Given the description of an element on the screen output the (x, y) to click on. 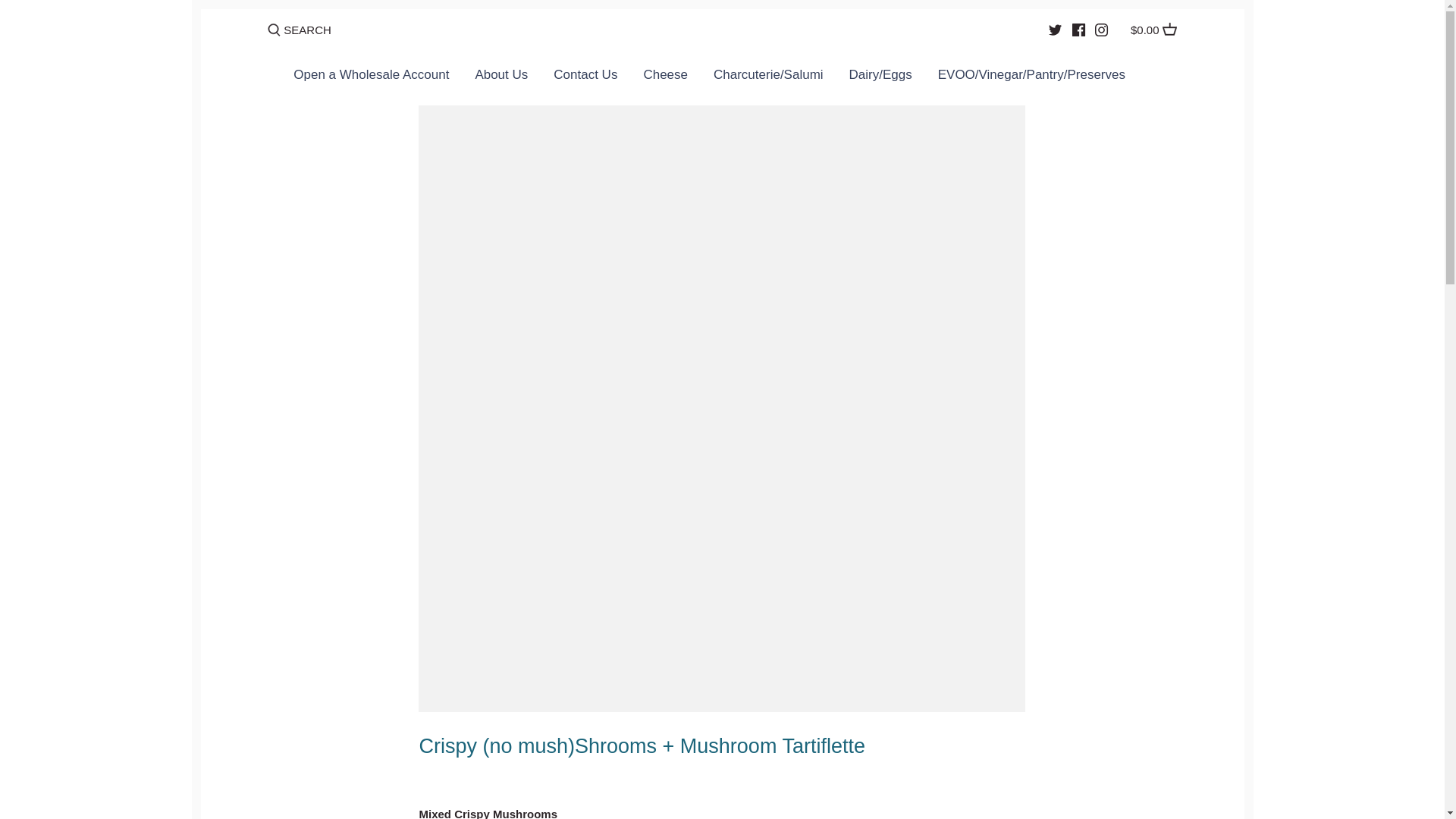
FACEBOOK (1077, 29)
About Us (500, 78)
Open a Wholesale Account (377, 78)
INSTAGRAM (1101, 29)
FACEBOOK (1077, 29)
Cheese (665, 78)
Contact Us (585, 78)
INSTAGRAM (1101, 29)
TWITTER (1054, 29)
TWITTER (1054, 29)
